Given the description of an element on the screen output the (x, y) to click on. 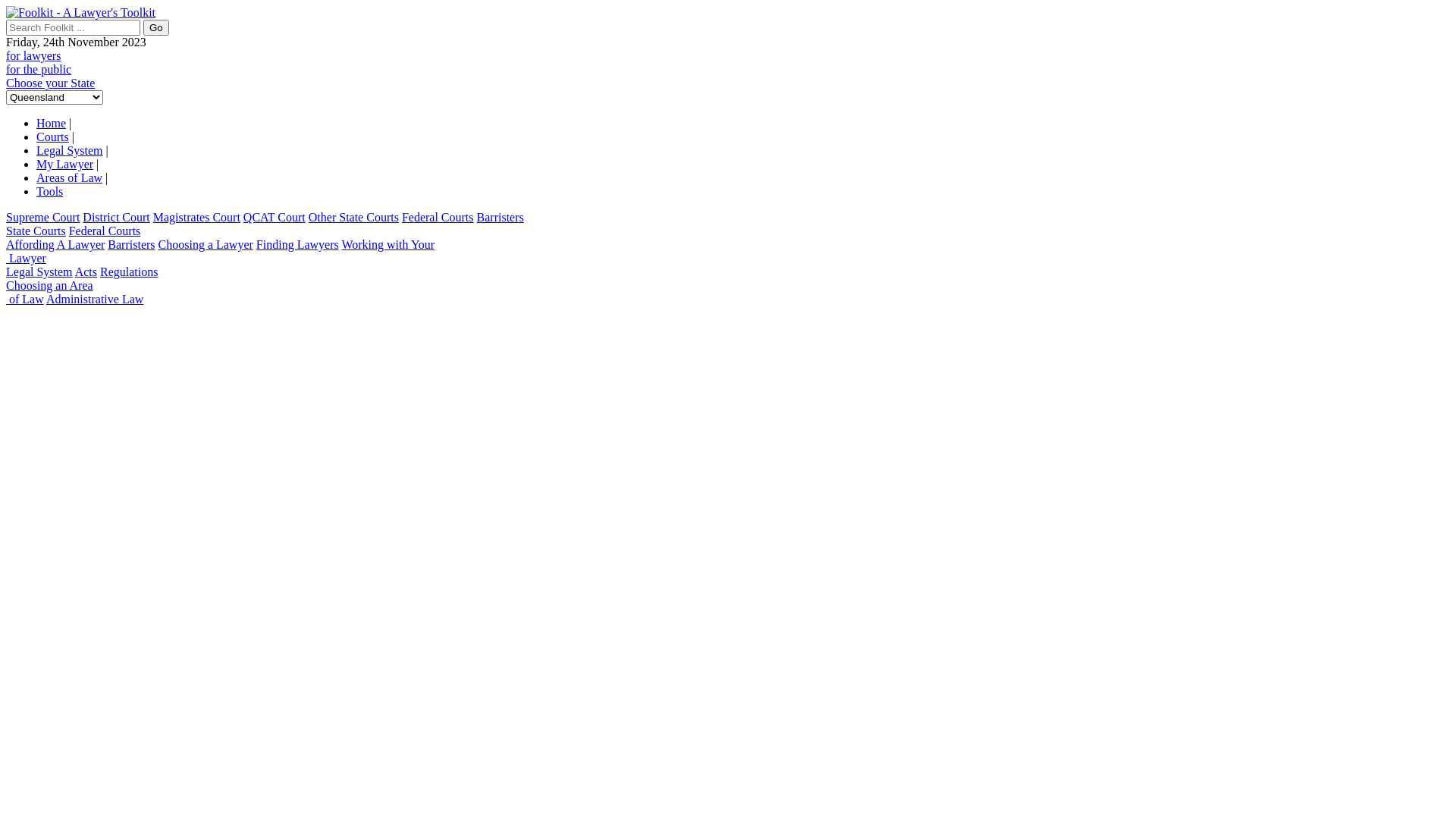
Courts Element type: text (52, 136)
Barristers Element type: text (130, 244)
Legal System Element type: text (39, 271)
for the public Element type: text (38, 68)
Acts Element type: text (86, 271)
Magistrates Court Element type: text (196, 216)
Home Element type: text (50, 122)
Areas of Law Element type: text (69, 177)
Legal System Element type: text (69, 150)
Supreme Court Element type: text (42, 216)
Administrative Law Element type: text (94, 298)
Federal Courts Element type: text (105, 230)
Federal Courts Element type: text (437, 216)
Tools Element type: text (49, 191)
Working with Your
 Lawyer Element type: text (220, 251)
Go Element type: text (156, 27)
Affording A Lawyer Element type: text (55, 244)
for lawyers Element type: text (33, 55)
Choose your State Element type: text (50, 82)
My Lawyer Element type: text (64, 163)
QCAT Court Element type: text (274, 216)
Regulations Element type: text (128, 271)
State Courts Element type: text (35, 230)
Other State Courts Element type: text (353, 216)
Barristers Element type: text (500, 216)
Choosing a Lawyer Element type: text (205, 244)
Choosing an Area
 of Law Element type: text (49, 292)
Finding Lawyers Element type: text (297, 244)
District Court Element type: text (115, 216)
